Given the description of an element on the screen output the (x, y) to click on. 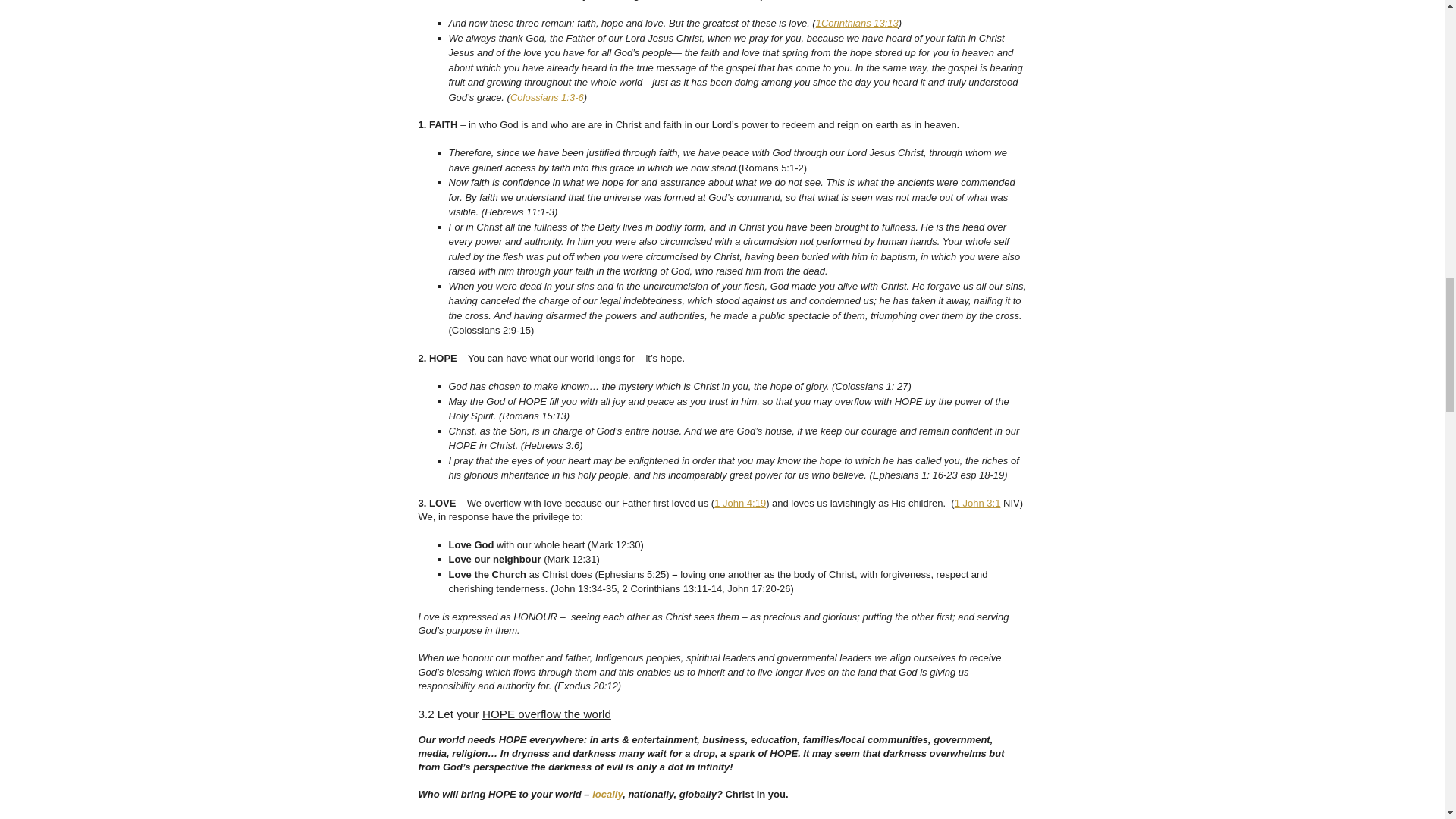
1 John 4:19 (739, 502)
1Corinthians 13:13 (856, 22)
locally (607, 794)
Colossians 1:3-6 (547, 97)
1 John 3:1 (978, 502)
